Given the description of an element on the screen output the (x, y) to click on. 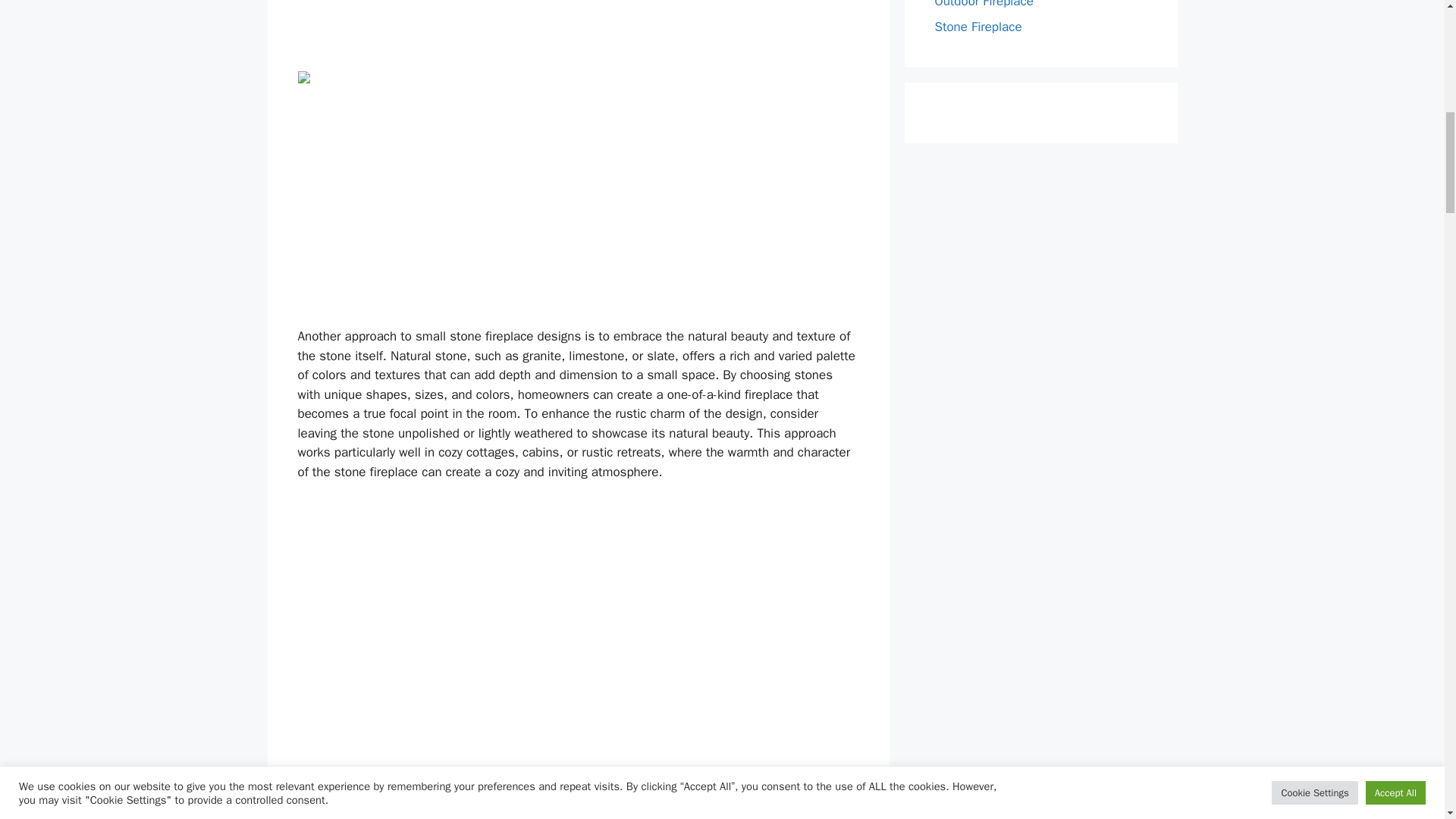
Advertisement (578, 214)
Advertisement (578, 31)
Advertisement (578, 729)
